Given the description of an element on the screen output the (x, y) to click on. 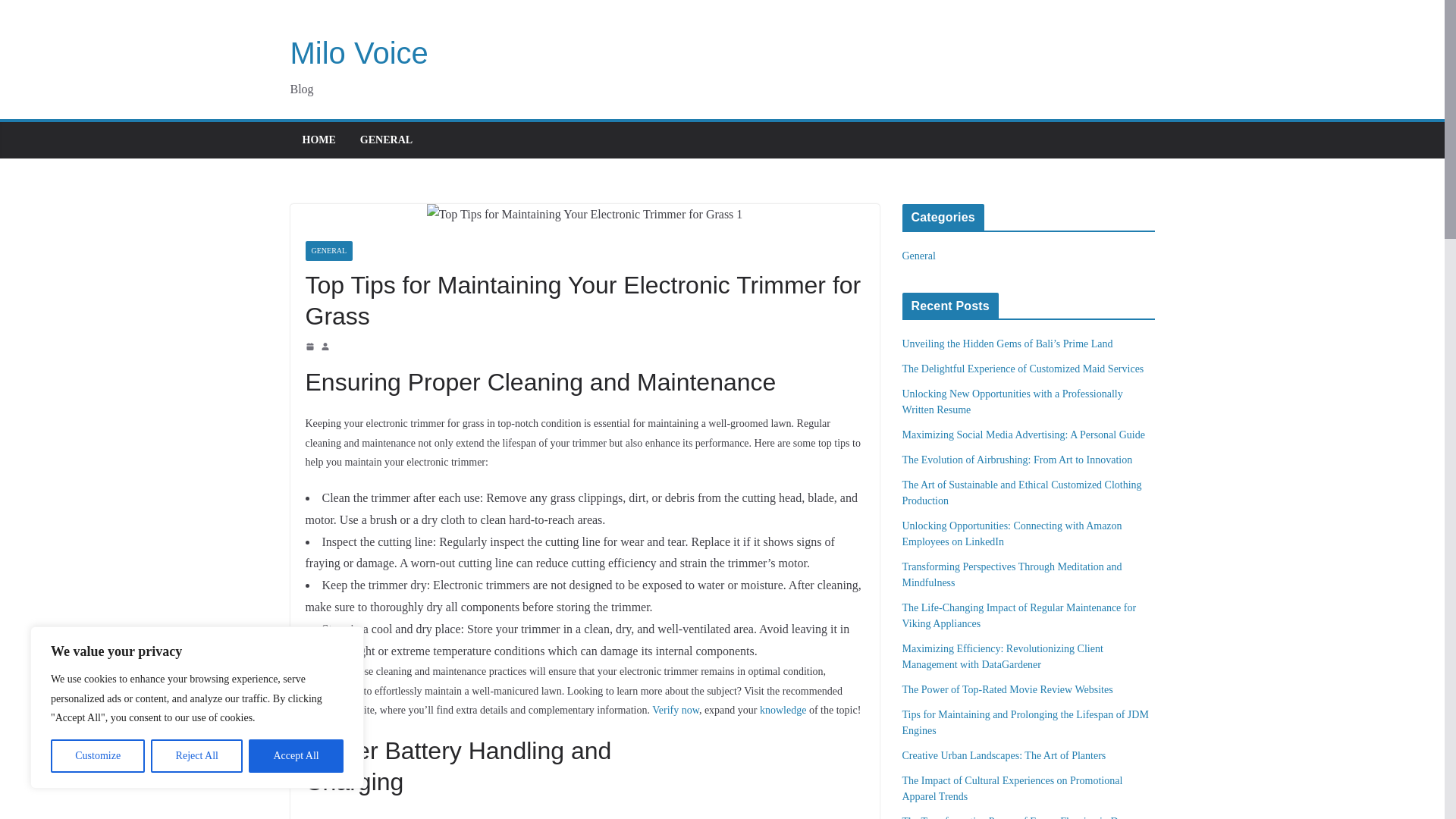
The Evolution of Airbrushing: From Art to Innovation (1017, 460)
Milo Voice (358, 52)
GENERAL (385, 139)
Maximizing Social Media Advertising: A Personal Guide (1023, 434)
General (919, 255)
The Delightful Experience of Customized Maid Services (1023, 368)
GENERAL (328, 250)
knowledge (783, 709)
Reject All (197, 756)
Verify now (675, 709)
